Given the description of an element on the screen output the (x, y) to click on. 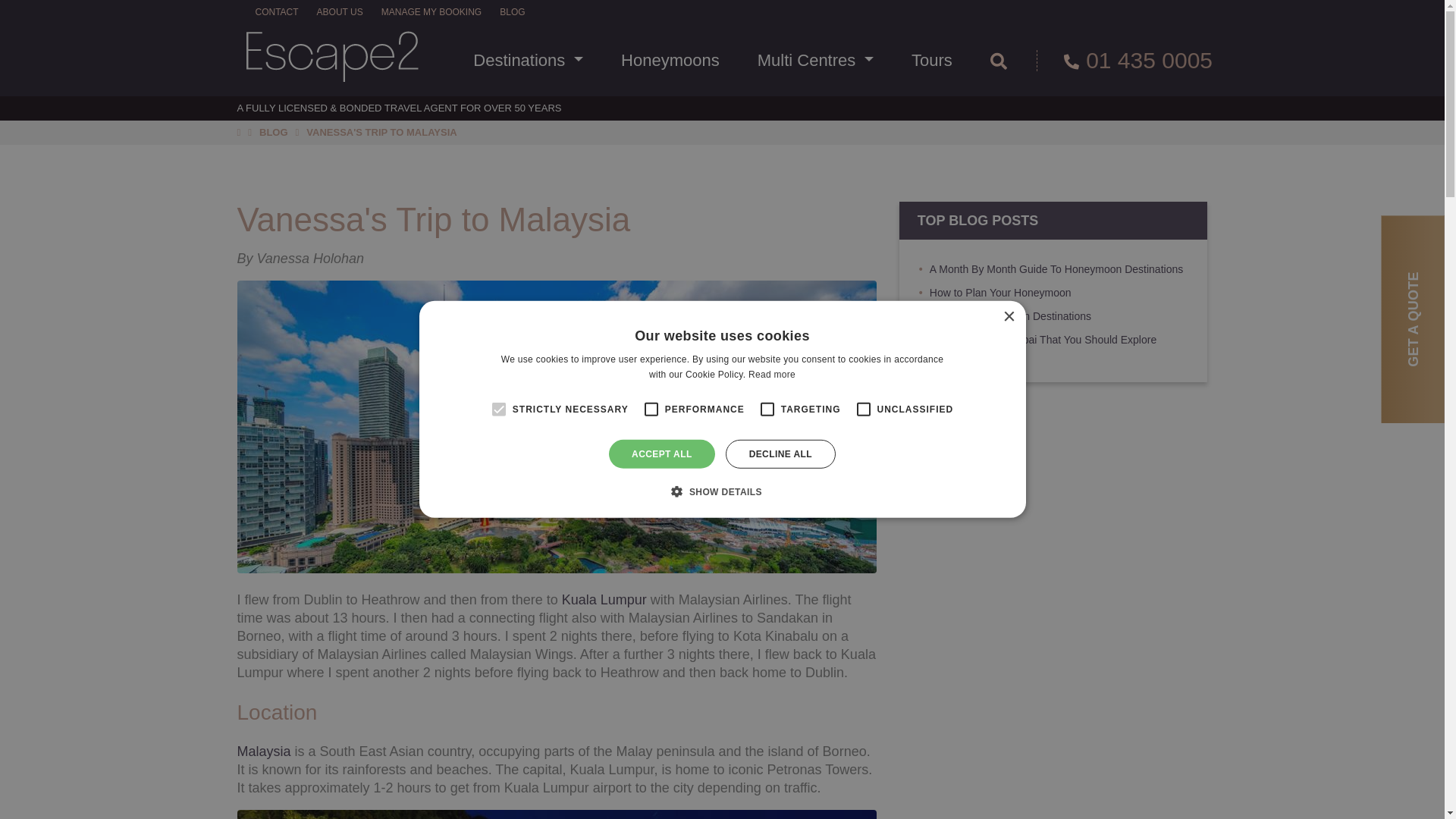
Tours (931, 60)
Honeymoons (670, 60)
CONTACT (276, 12)
BLOG (511, 12)
BLOG (273, 132)
How to Plan Your Honeymoon (1000, 292)
Hidden Gems in Dubai That You Should Explore (1043, 339)
Malaysia (262, 751)
01 435 0005 (1124, 60)
ABOUT US (339, 12)
A Month by Month Guide to Honeymoon Destinations (1056, 268)
Destinations (528, 60)
Top Five Honeymoon Destinations (1010, 316)
Kuala Lumpur (604, 599)
MANAGE MY BOOKING (431, 12)
